Given the description of an element on the screen output the (x, y) to click on. 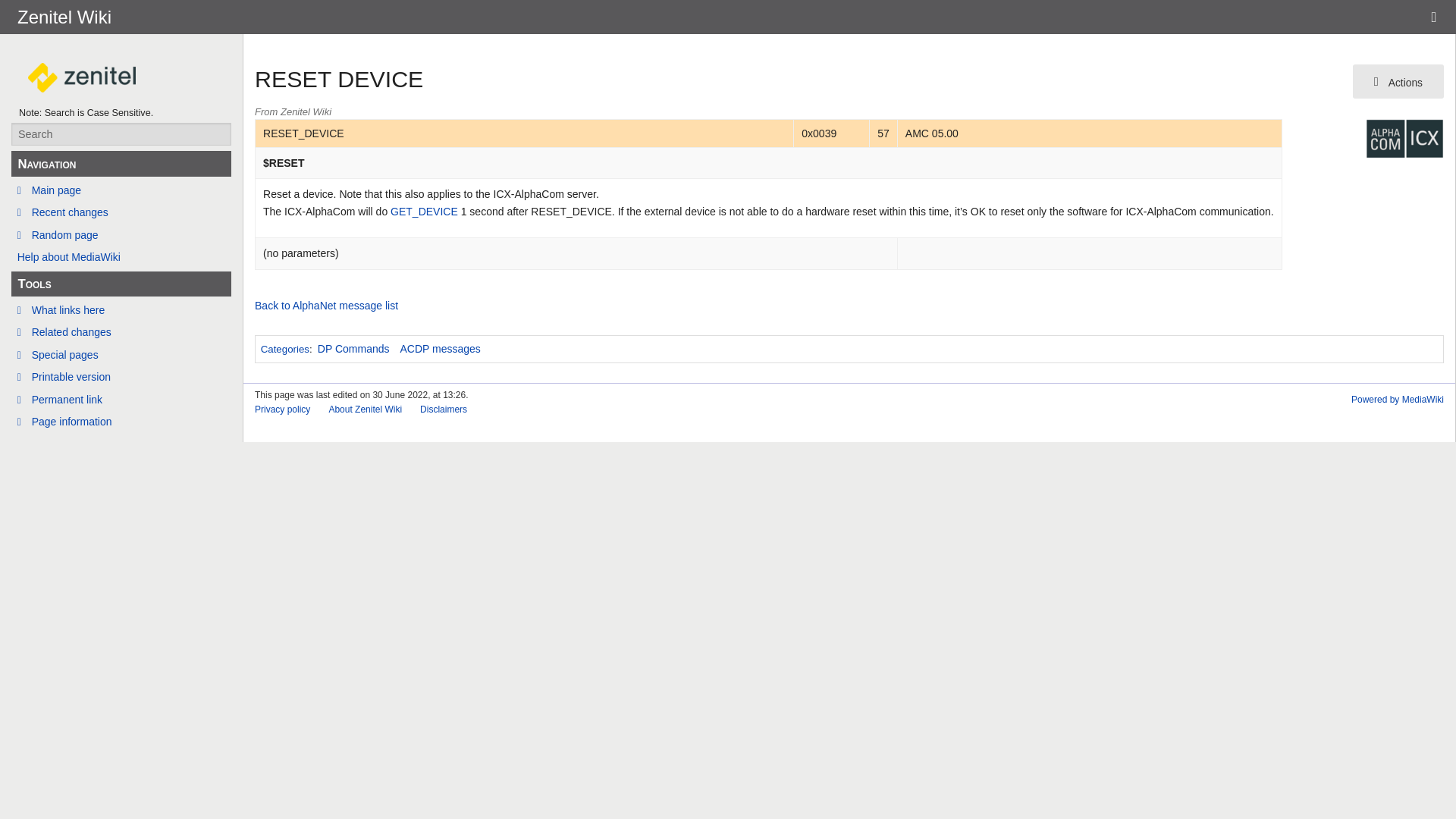
Recent changes (121, 211)
DP Commands (353, 348)
 Actions (1398, 81)
Disclaimers (443, 409)
Privacy policy (282, 409)
ACDP messages (440, 348)
Random page (121, 234)
Main page (121, 190)
Categories (284, 348)
Page information (121, 421)
